Given the description of an element on the screen output the (x, y) to click on. 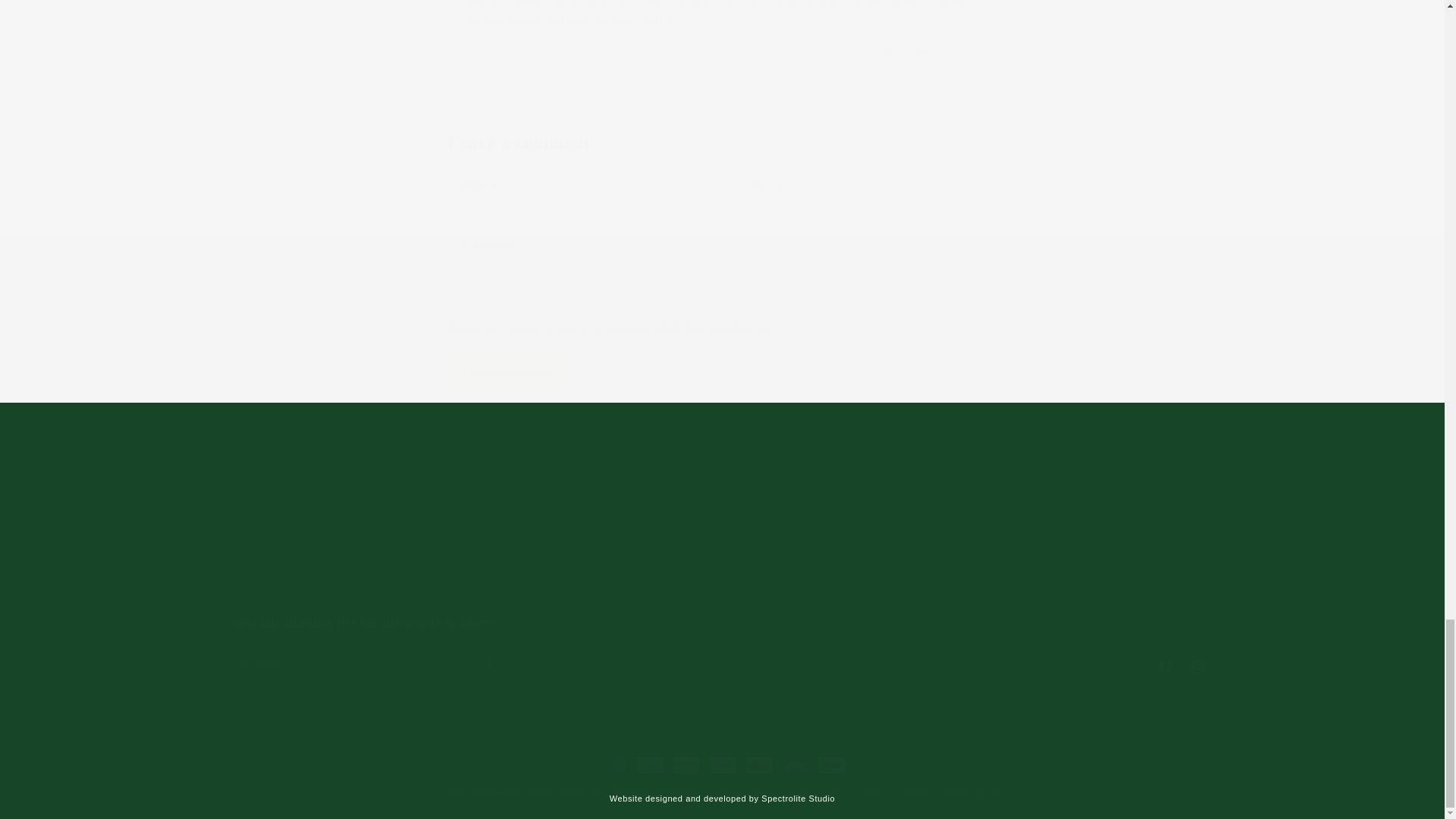
Post comment (510, 372)
